Given the description of an element on the screen output the (x, y) to click on. 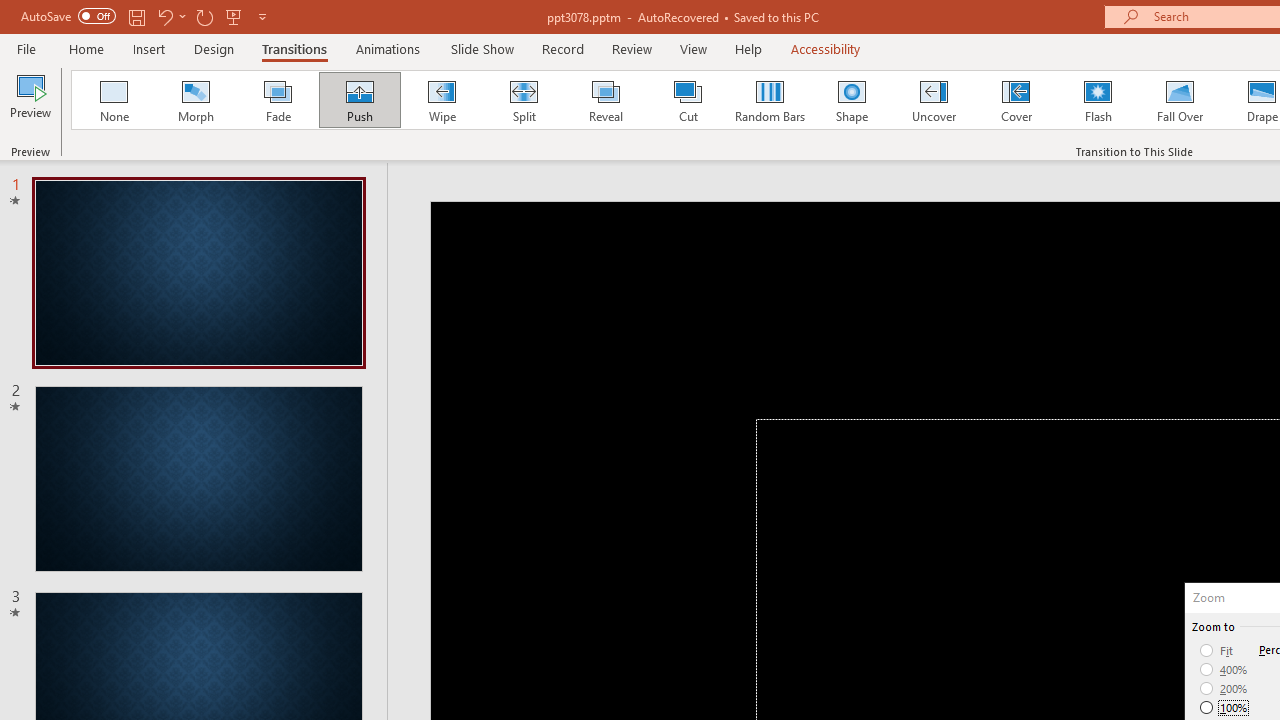
Uncover (934, 100)
Flash (1098, 100)
Fade (277, 100)
Cut (687, 100)
Split (523, 100)
Push (359, 100)
Preview (30, 102)
100% (1224, 707)
